Given the description of an element on the screen output the (x, y) to click on. 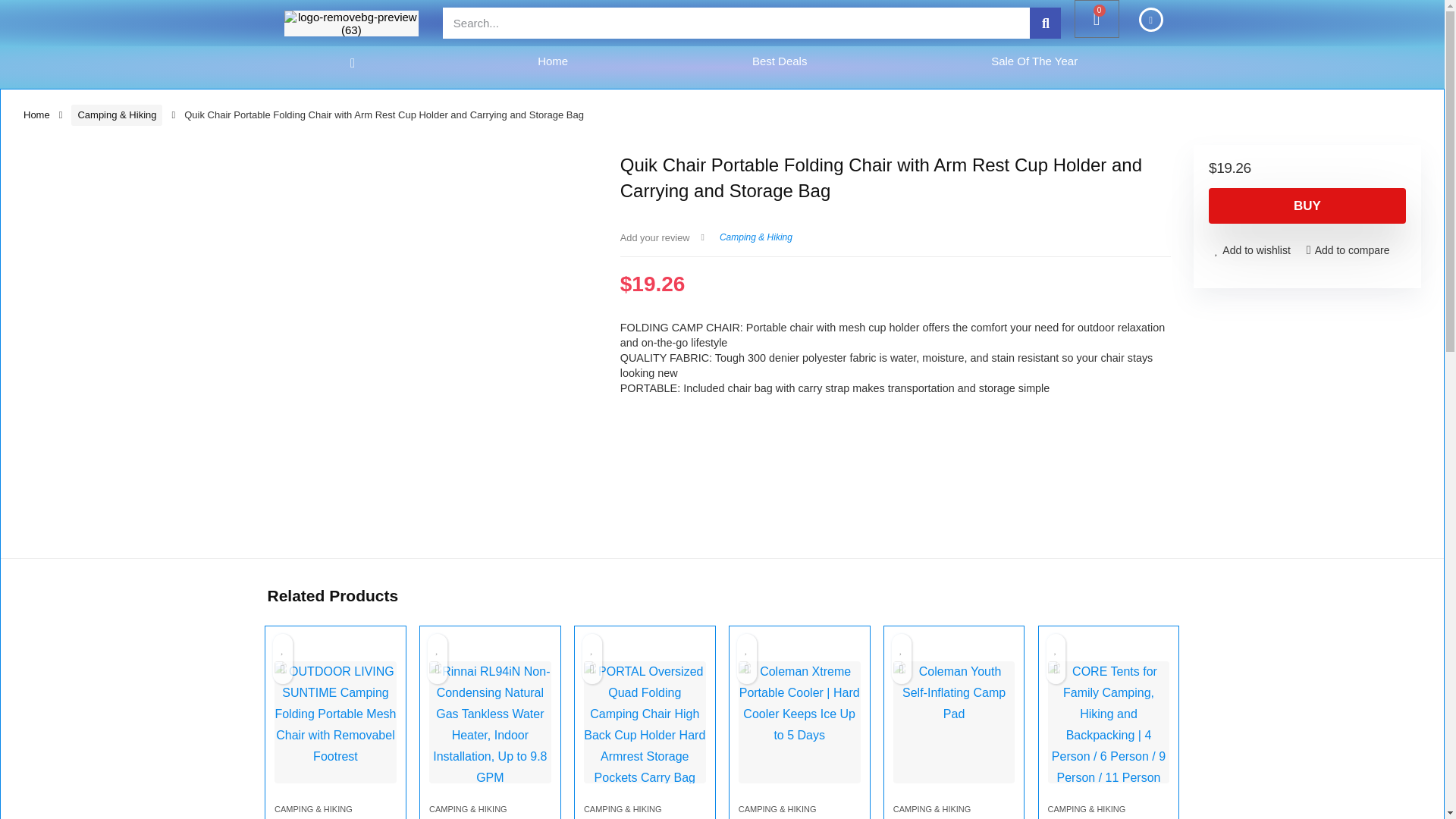
0 (1096, 18)
Sale Of The Year (1034, 61)
Best Deals (780, 61)
Add your review (655, 237)
Home (553, 61)
